Given the description of an element on the screen output the (x, y) to click on. 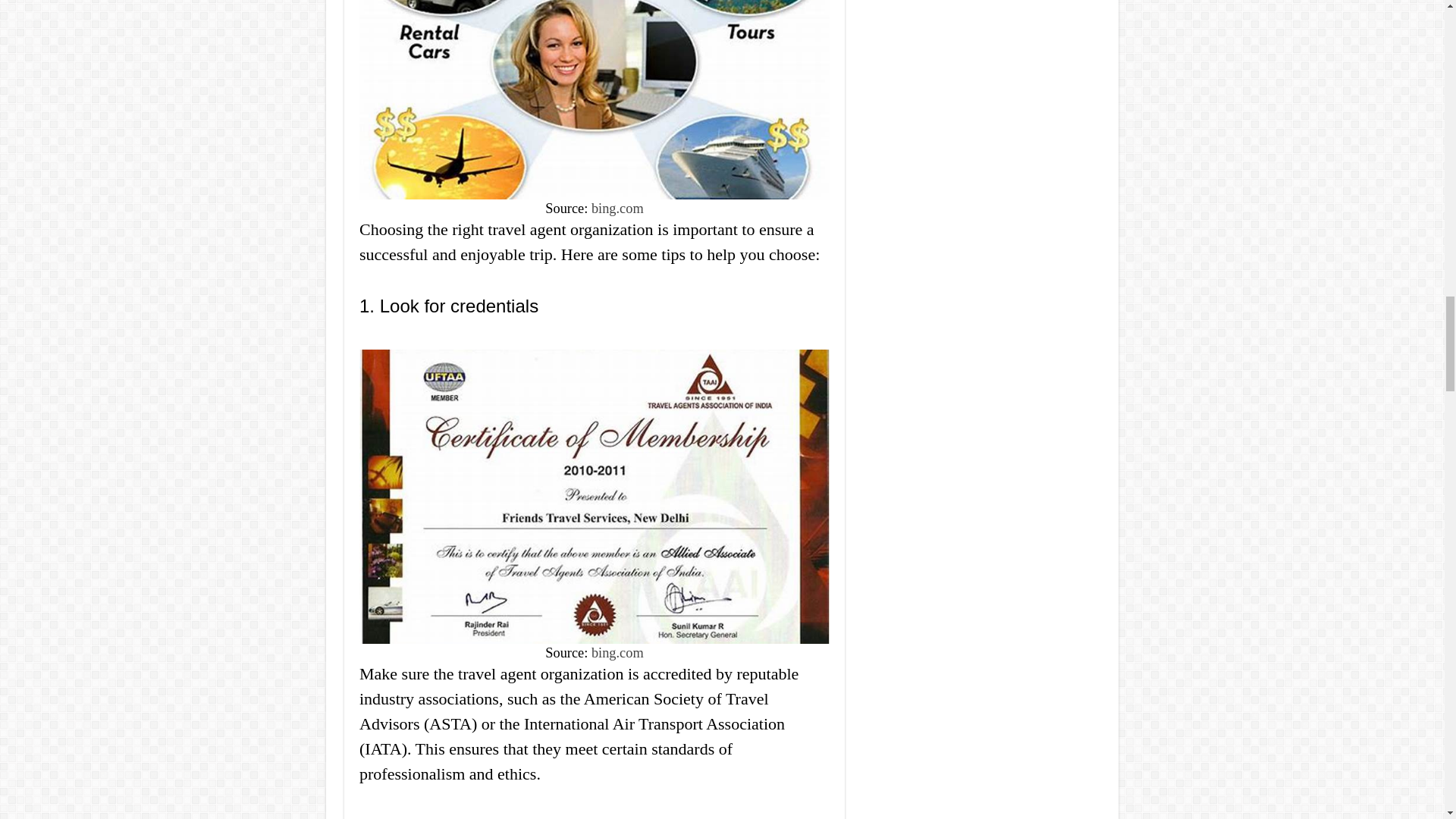
bing.com (617, 208)
bing.com (617, 652)
